Given the description of an element on the screen output the (x, y) to click on. 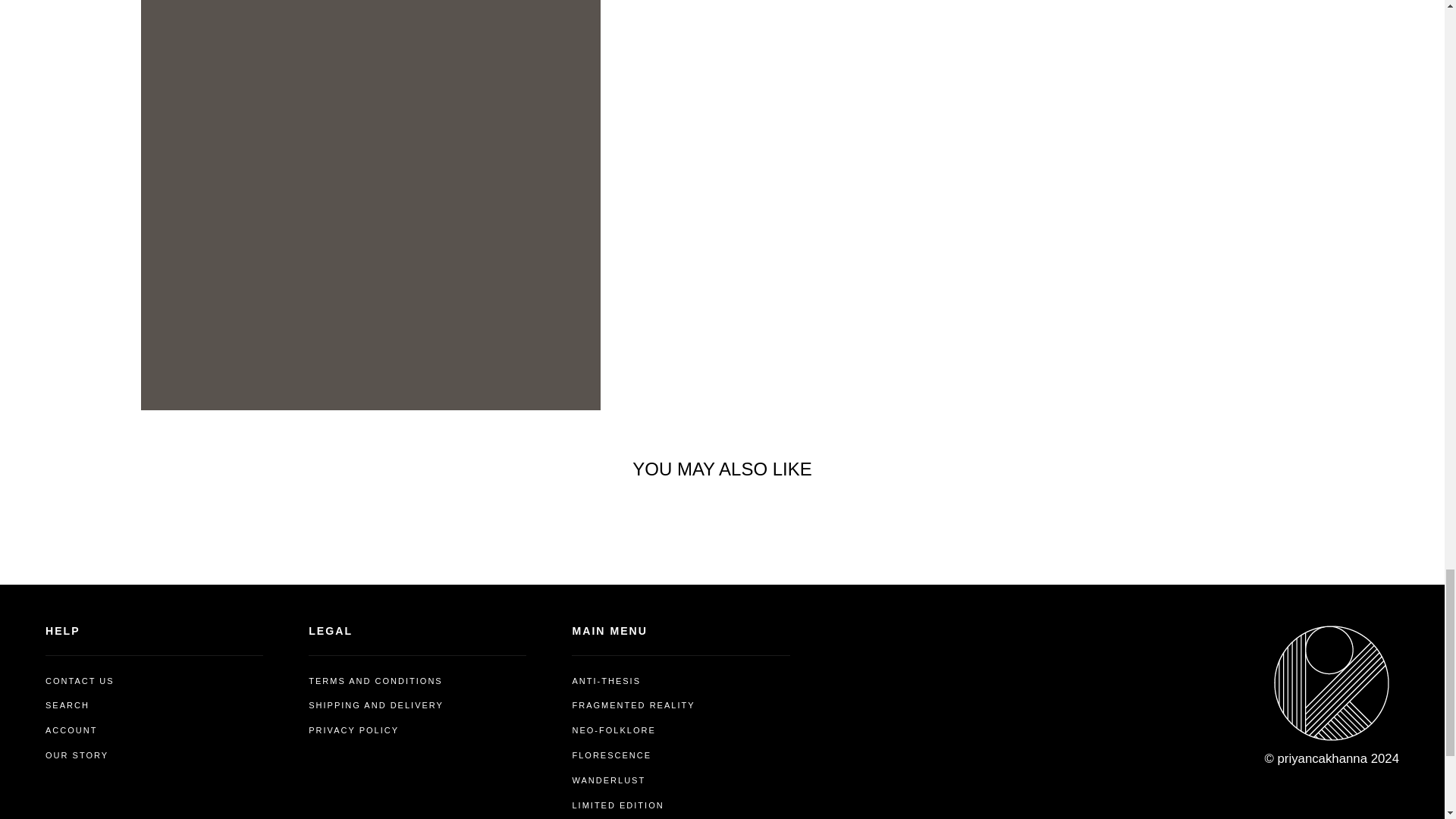
TERMS AND CONDITIONS (375, 680)
OUR STORY (76, 755)
CONTACT US (80, 680)
NEO-FOLKLORE (613, 730)
ANTI-THESIS (606, 680)
ACCOUNT (71, 730)
PRIVACY POLICY (353, 730)
SHIPPING AND DELIVERY (376, 705)
WANDERLUST (608, 780)
SEARCH (66, 705)
